Given the description of an element on the screen output the (x, y) to click on. 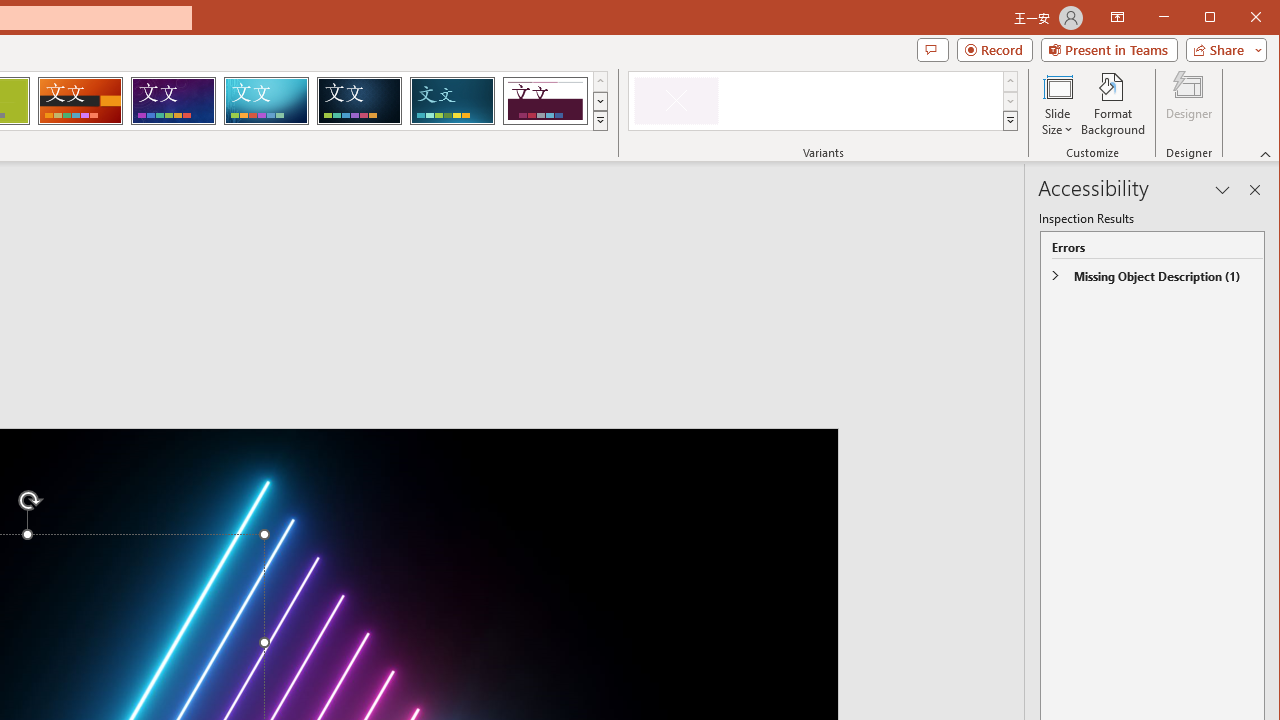
AutomationID: ThemeVariantsGallery (824, 101)
Circuit (266, 100)
Celestial (173, 100)
Damask (359, 100)
Berlin (80, 100)
